Given the description of an element on the screen output the (x, y) to click on. 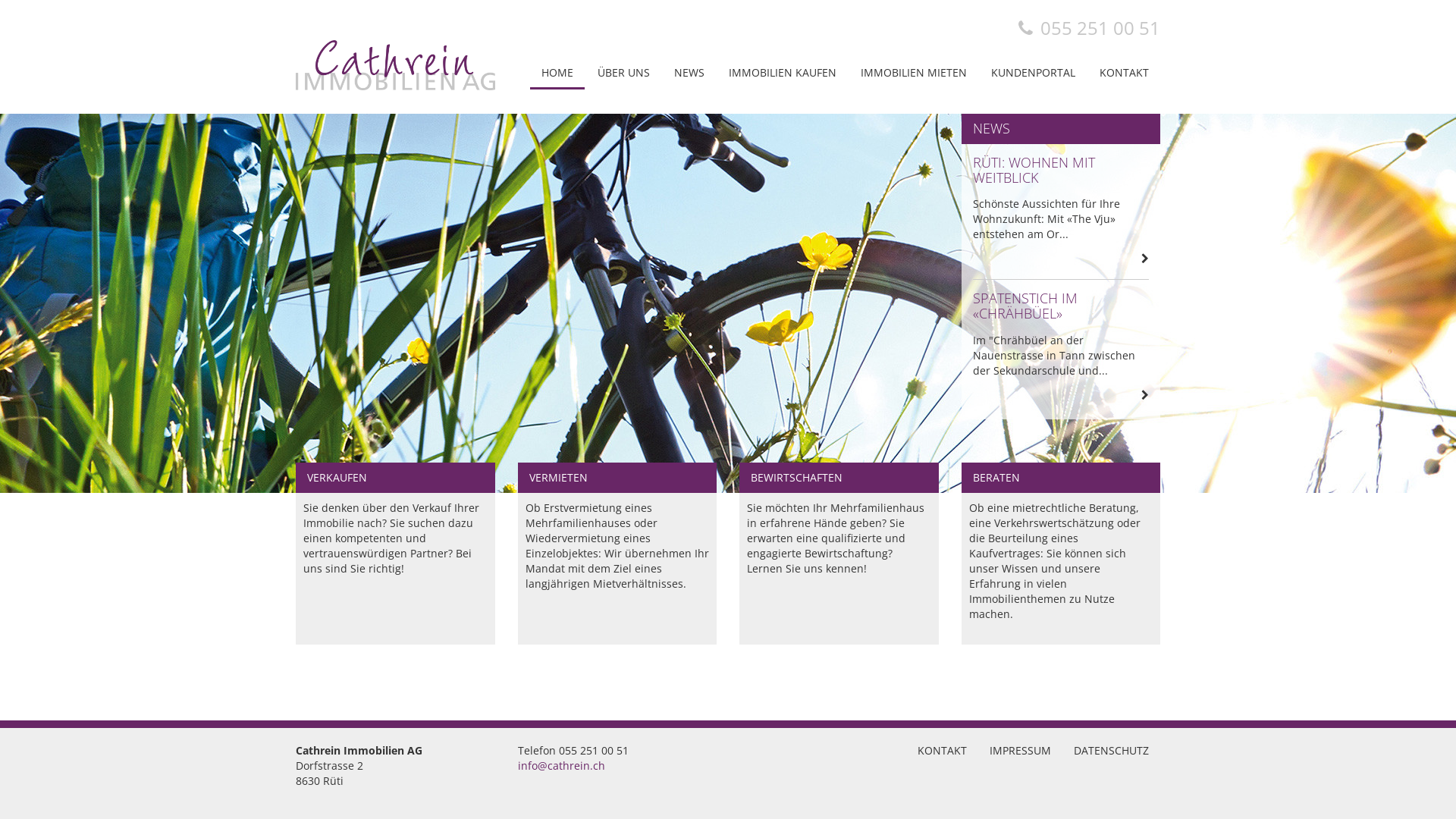
NEWS Element type: text (1061, 128)
BERATEN Element type: text (1061, 477)
VERMIETEN Element type: text (616, 477)
IMPRESSUM Element type: text (1020, 750)
HOME Element type: text (557, 73)
KONTAKT Element type: text (1124, 73)
VERKAUFEN Element type: text (395, 477)
KONTAKT Element type: text (942, 750)
KUNDENPORTAL Element type: text (1032, 73)
BEWIRTSCHAFTEN Element type: text (838, 477)
IMMOBILIEN KAUFEN Element type: text (782, 73)
IMMOBILIEN MIETEN Element type: text (913, 73)
info@cathrein.ch Element type: text (560, 765)
NEWS Element type: text (688, 73)
DATENSCHUTZ Element type: text (1111, 750)
